Given the description of an element on the screen output the (x, y) to click on. 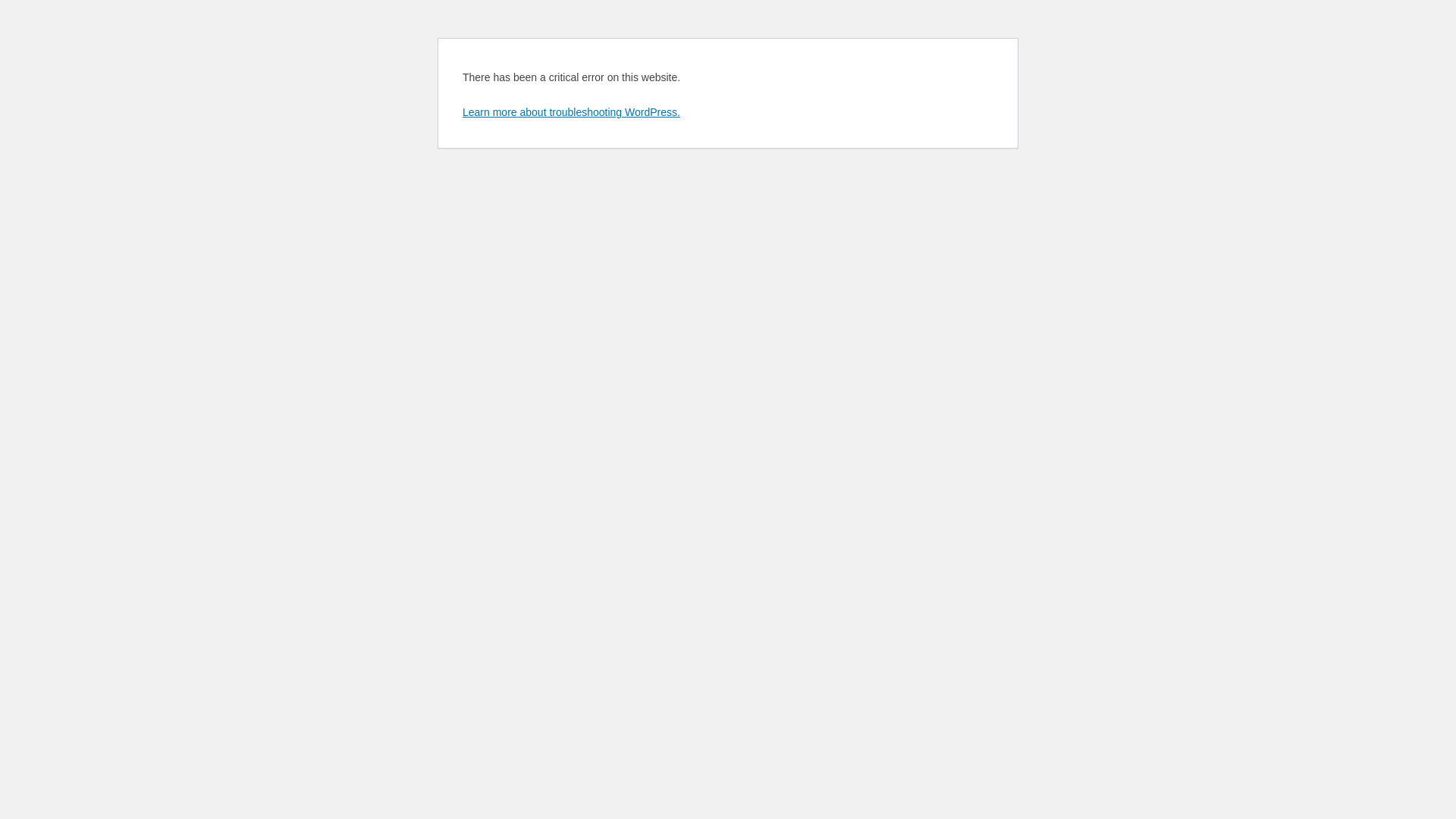
Learn more about troubleshooting WordPress. Element type: text (571, 112)
